Given the description of an element on the screen output the (x, y) to click on. 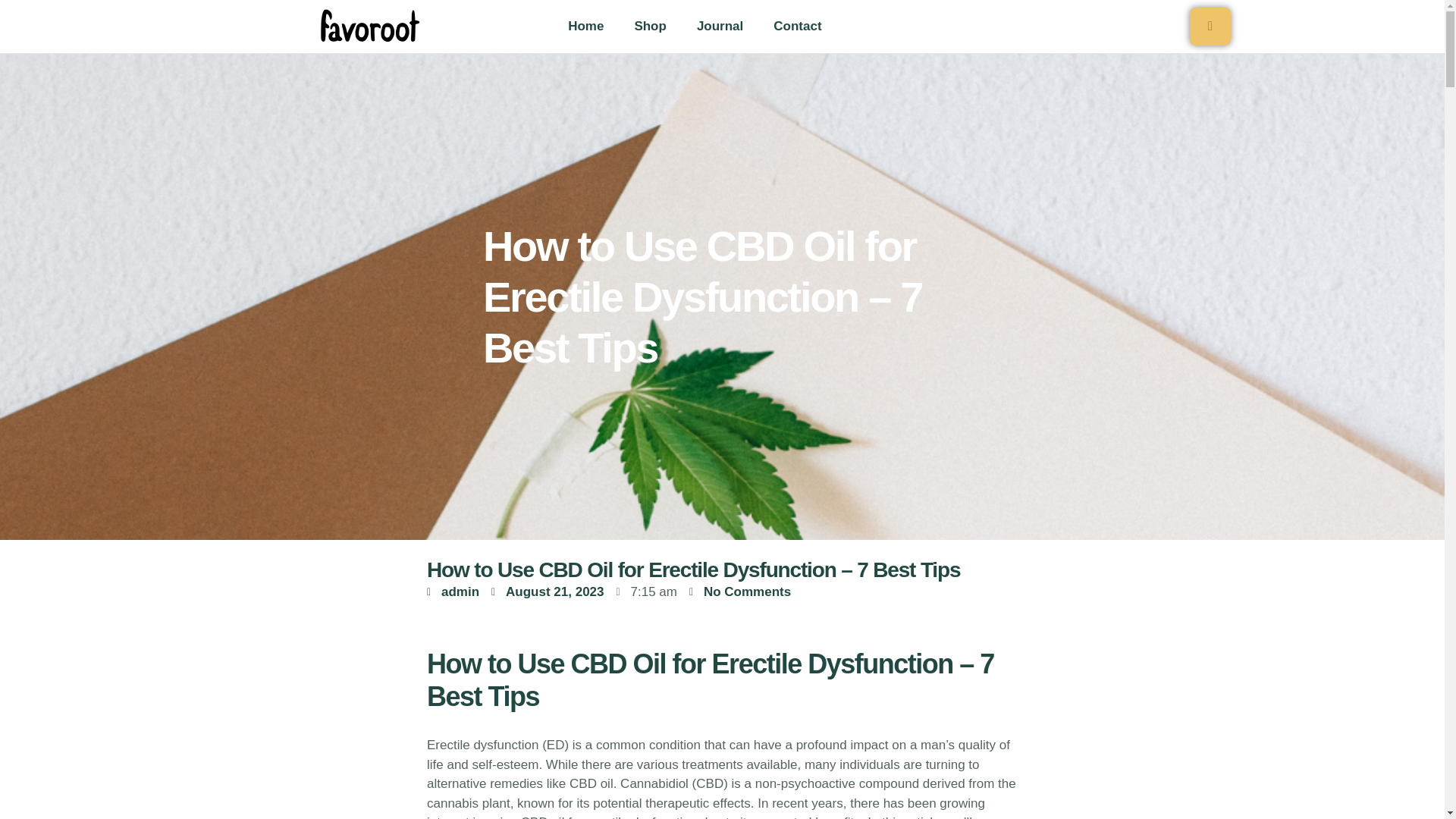
Journal (719, 26)
admin (452, 592)
No Comments (739, 592)
Contact (796, 26)
favoroot logo (368, 26)
Home (585, 26)
Shop (649, 26)
August 21, 2023 (548, 592)
